Given the description of an element on the screen output the (x, y) to click on. 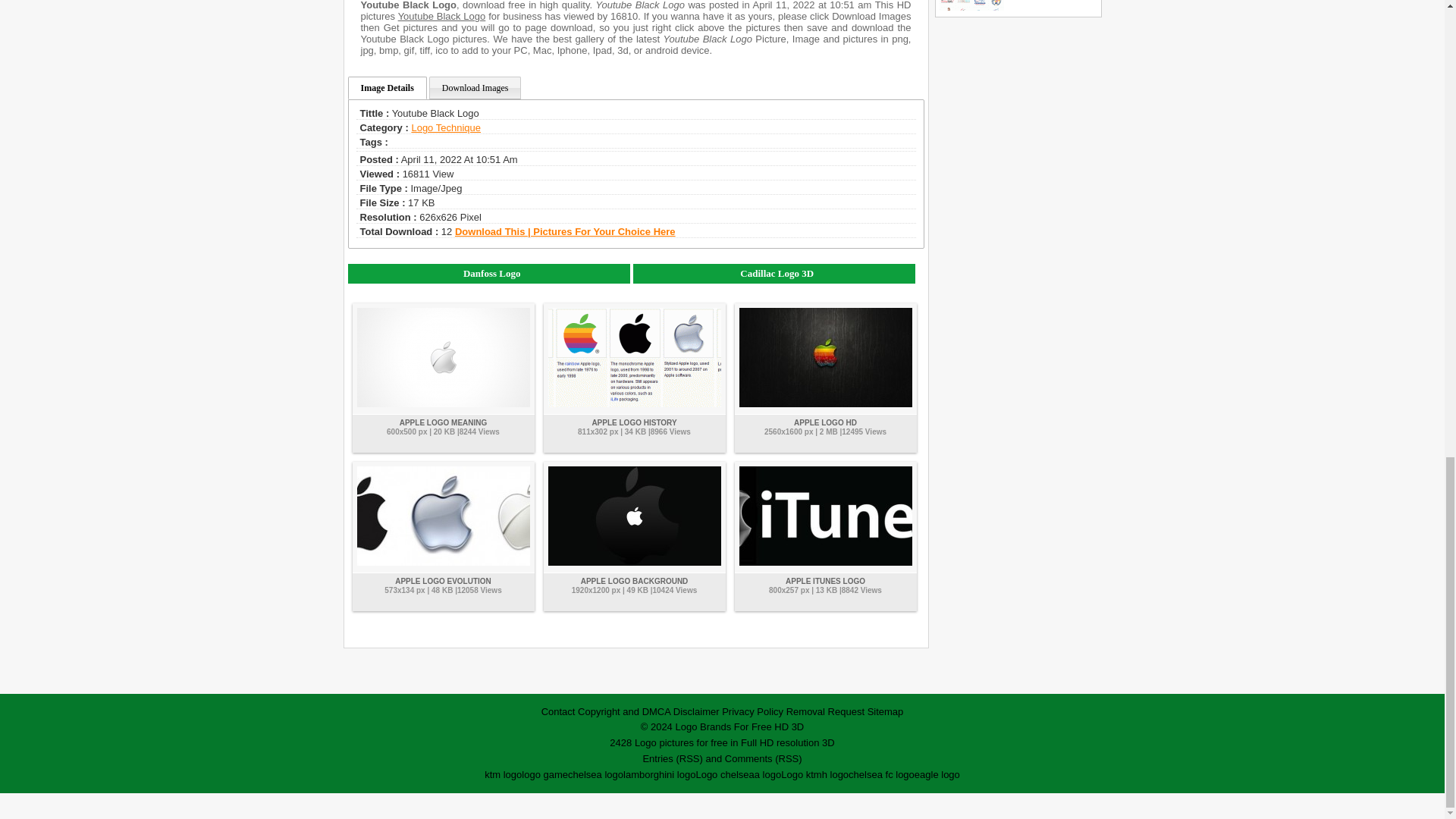
Logo Technique (445, 127)
Image Details (386, 87)
APPLE LOGO EVOLUTION (443, 581)
Danfoss Logo (487, 273)
APPLE LOGO HD (825, 422)
Cadillac Logo 3D (774, 273)
APPLE LOGO MEANING (442, 422)
Download Images (475, 87)
Apple logo history (634, 422)
APPLE LOGO HISTORY (634, 422)
